Given the description of an element on the screen output the (x, y) to click on. 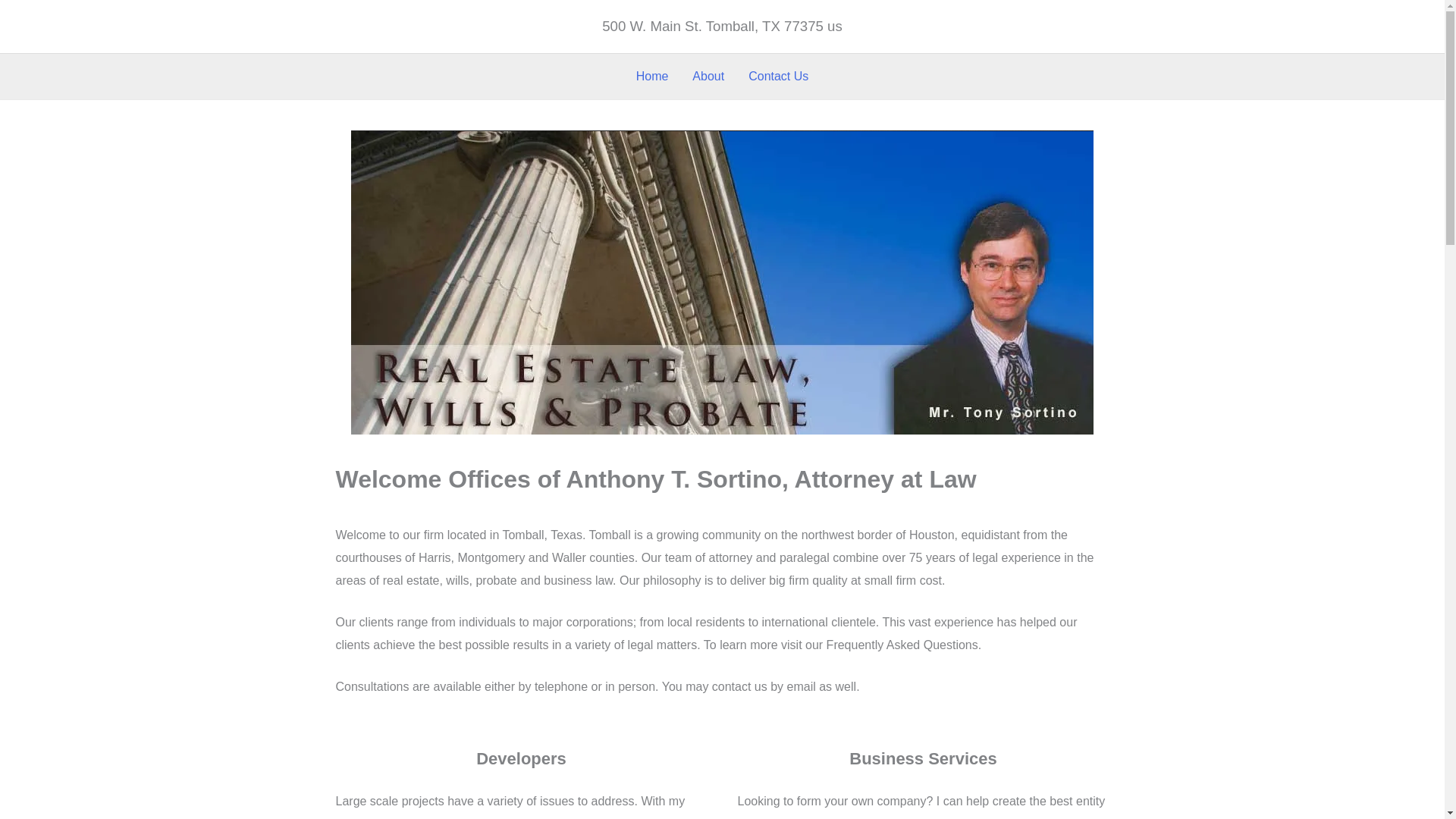
About (707, 76)
Contact Us (778, 76)
Home (652, 76)
